Given the description of an element on the screen output the (x, y) to click on. 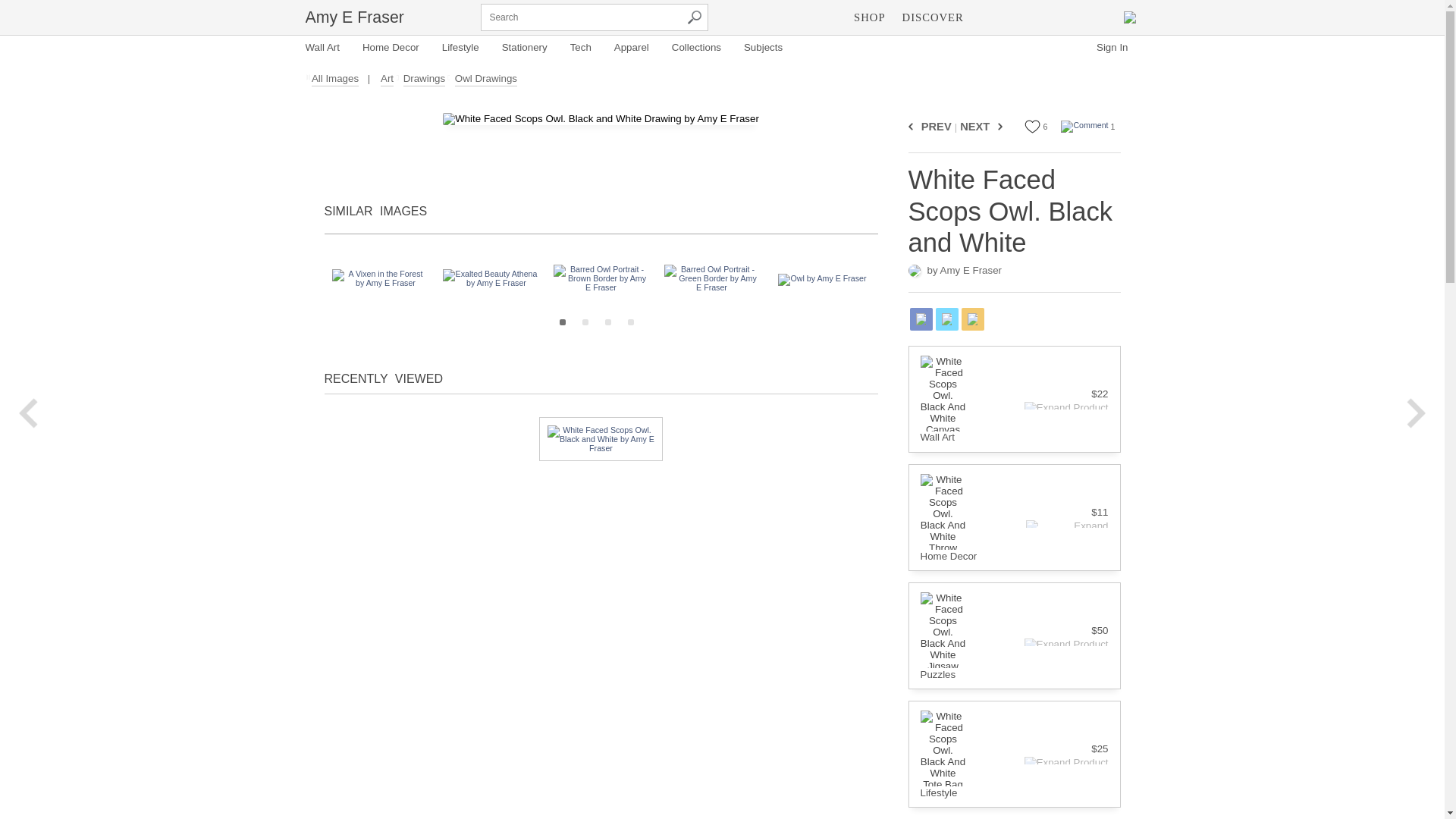
Share Product on Facebook (921, 318)
Comment (1084, 126)
SHOP (869, 16)
White Faced Scops Owl. Black And White Canvas Print (943, 393)
Search (694, 17)
Favorite (1033, 126)
Previous Image (913, 126)
DISCOVER (933, 16)
Amy E Fraser (353, 16)
Next Image (997, 126)
Share Product on Twitter (947, 318)
Share Product on Pinterest (972, 318)
Expand Product (1060, 405)
